Given the description of an element on the screen output the (x, y) to click on. 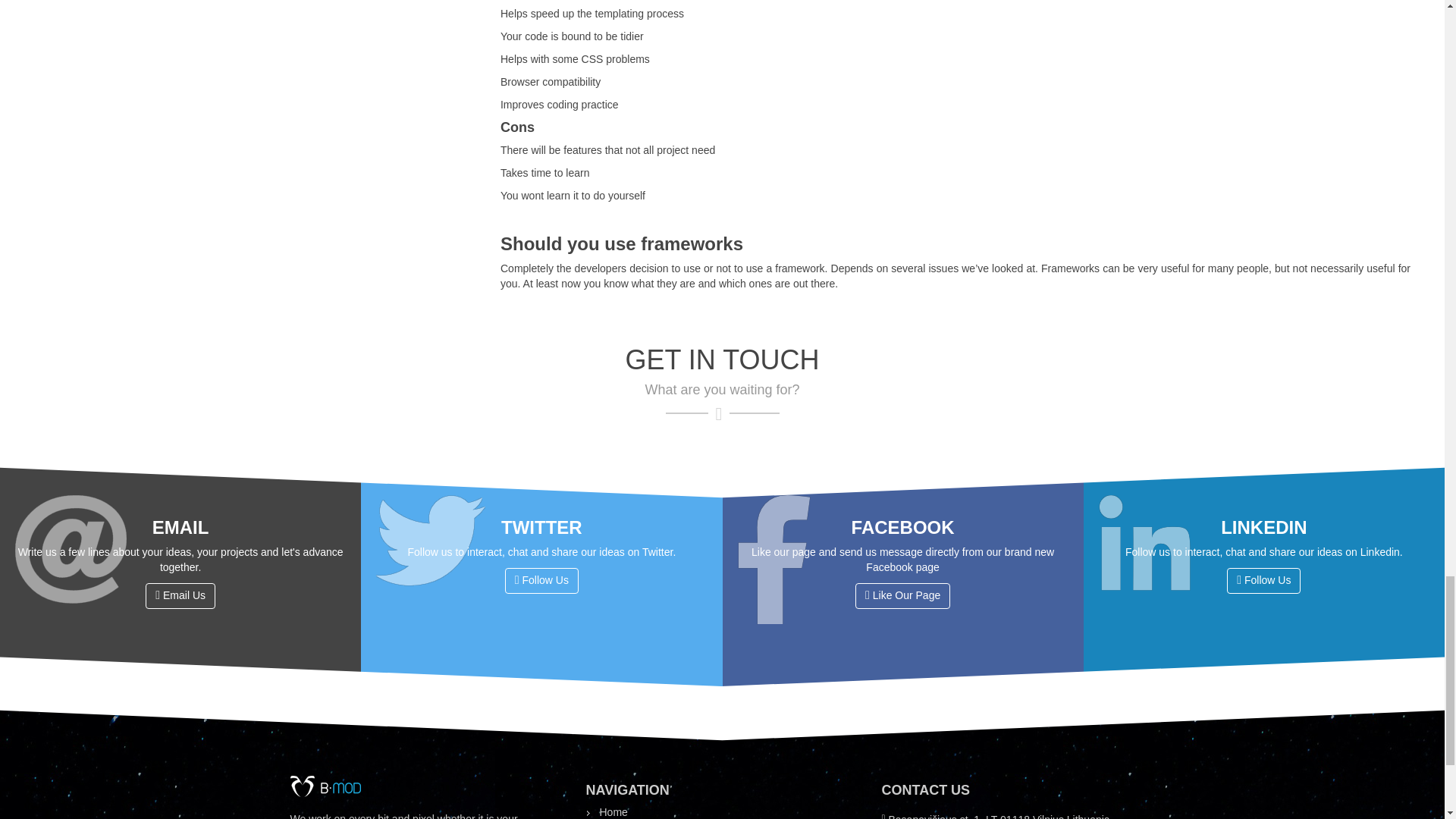
Follow Us (541, 580)
Like Our Page (903, 596)
Follow Us (1263, 580)
Email Us (180, 596)
Home (612, 811)
